Given the description of an element on the screen output the (x, y) to click on. 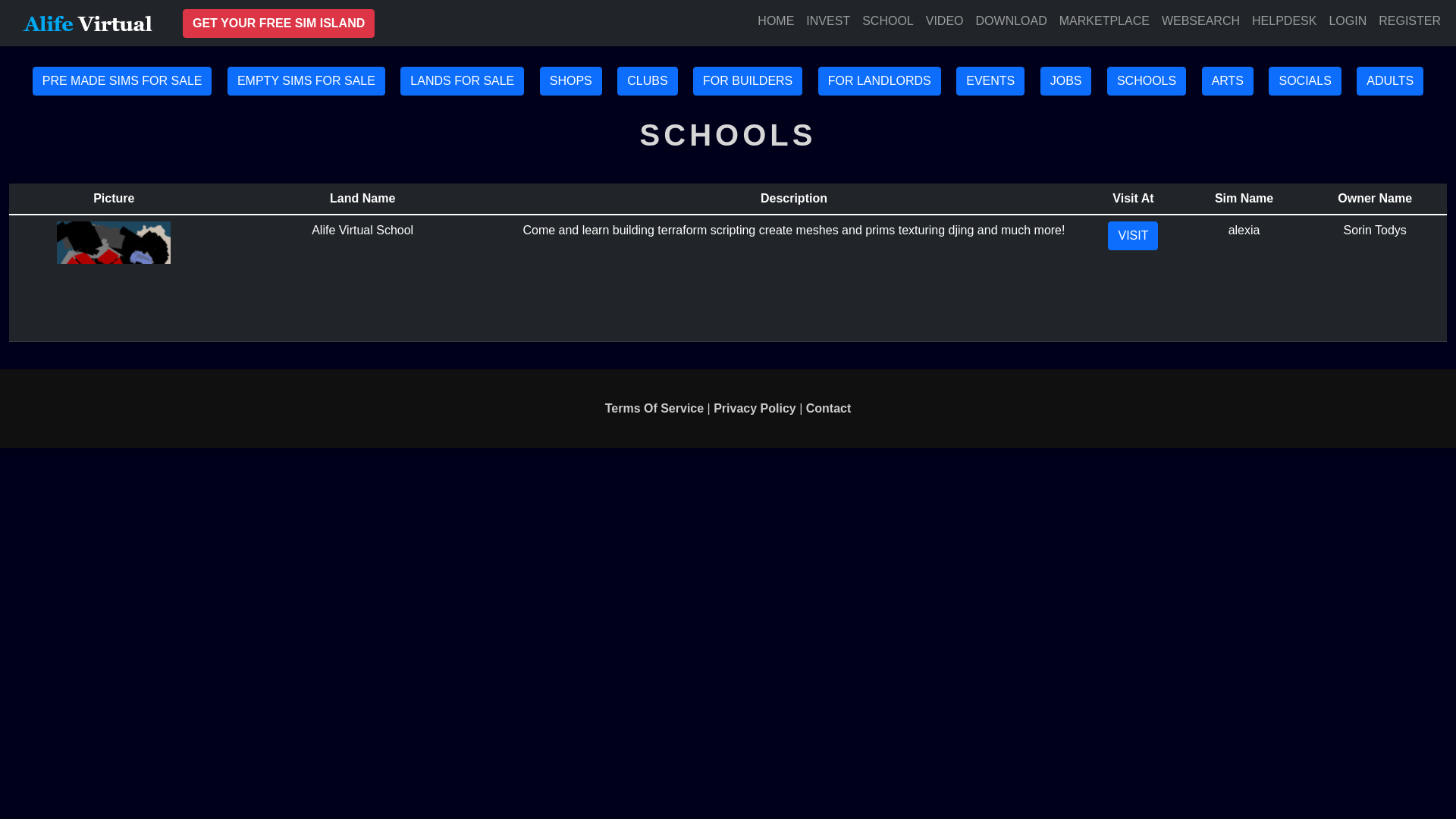
FOR LANDLORDS (879, 80)
INVEST (827, 20)
EMPTY SIMS FOR SALE (306, 80)
REGISTER (1410, 20)
SHOPS (571, 80)
LOGIN (1347, 20)
JOBS (1066, 80)
LANDS FOR SALE (462, 80)
DOWNLOAD (1010, 20)
Terms Of Service (654, 408)
